Given the description of an element on the screen output the (x, y) to click on. 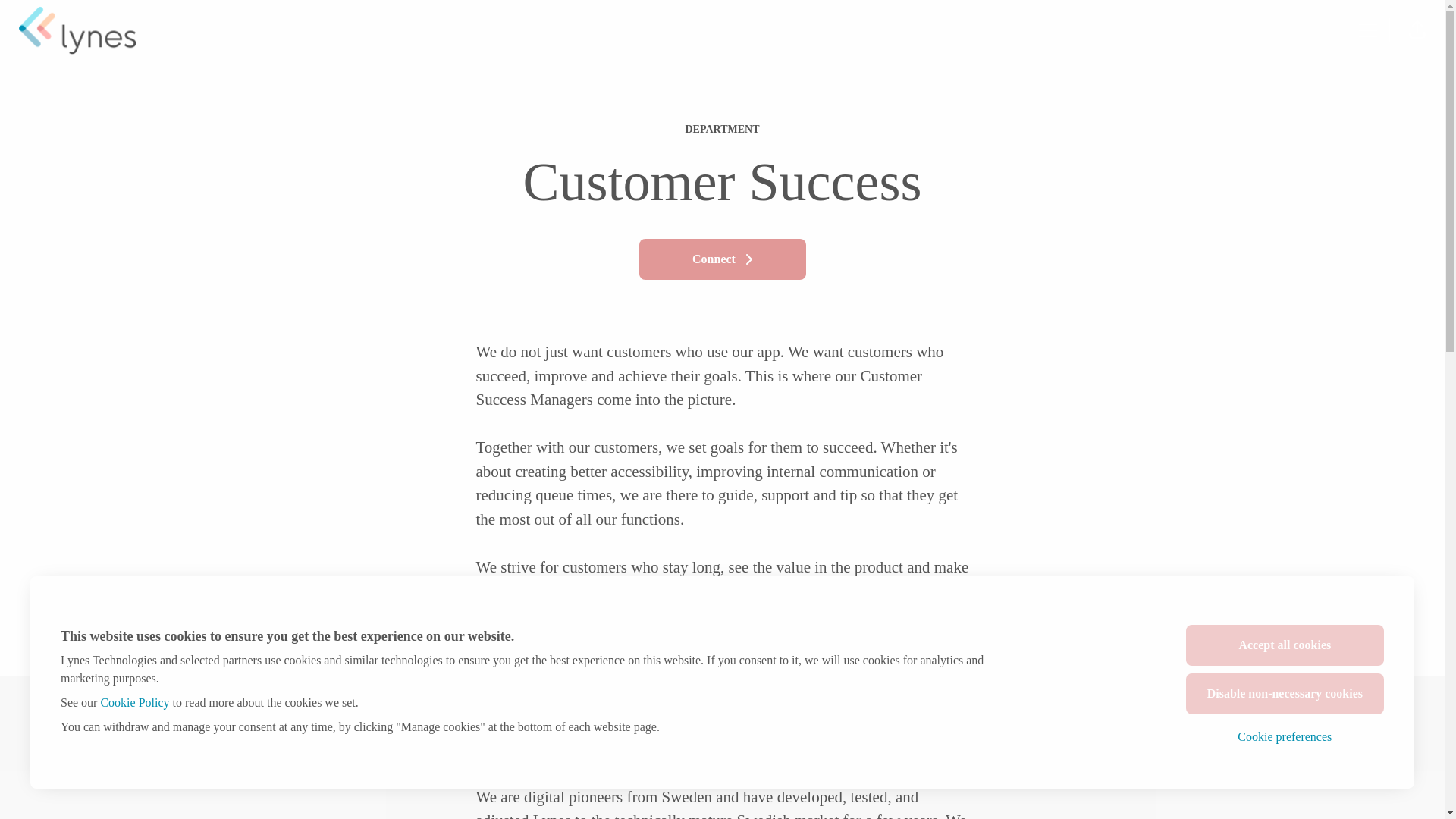
Career menu (1367, 30)
Share page (1417, 30)
Cookie preferences (1284, 736)
Connect (722, 259)
Cookie Policy (134, 702)
Accept all cookies (1285, 644)
Disable non-necessary cookies (1285, 693)
